Given the description of an element on the screen output the (x, y) to click on. 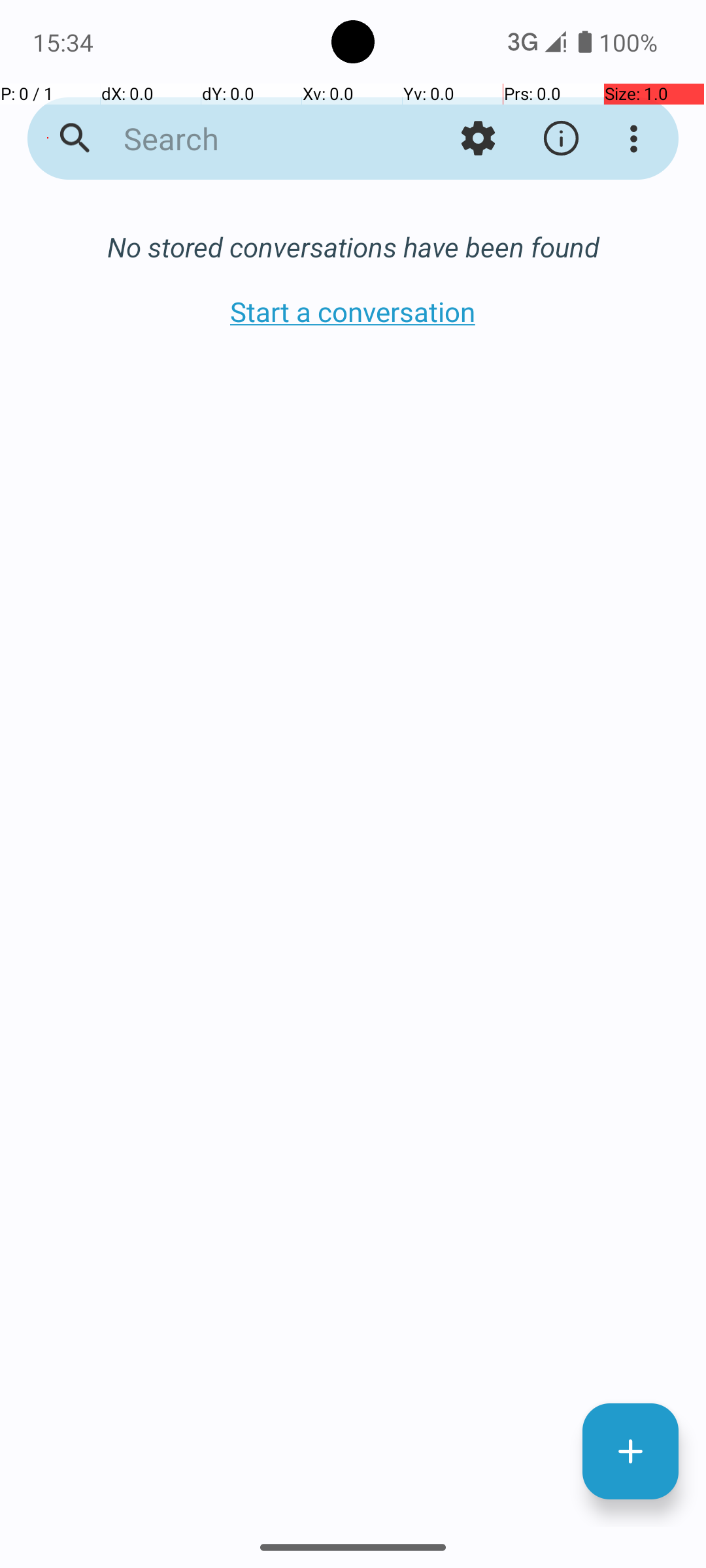
No stored conversations have been found Element type: android.widget.TextView (353, 246)
Start a conversation Element type: android.widget.TextView (352, 311)
